Given the description of an element on the screen output the (x, y) to click on. 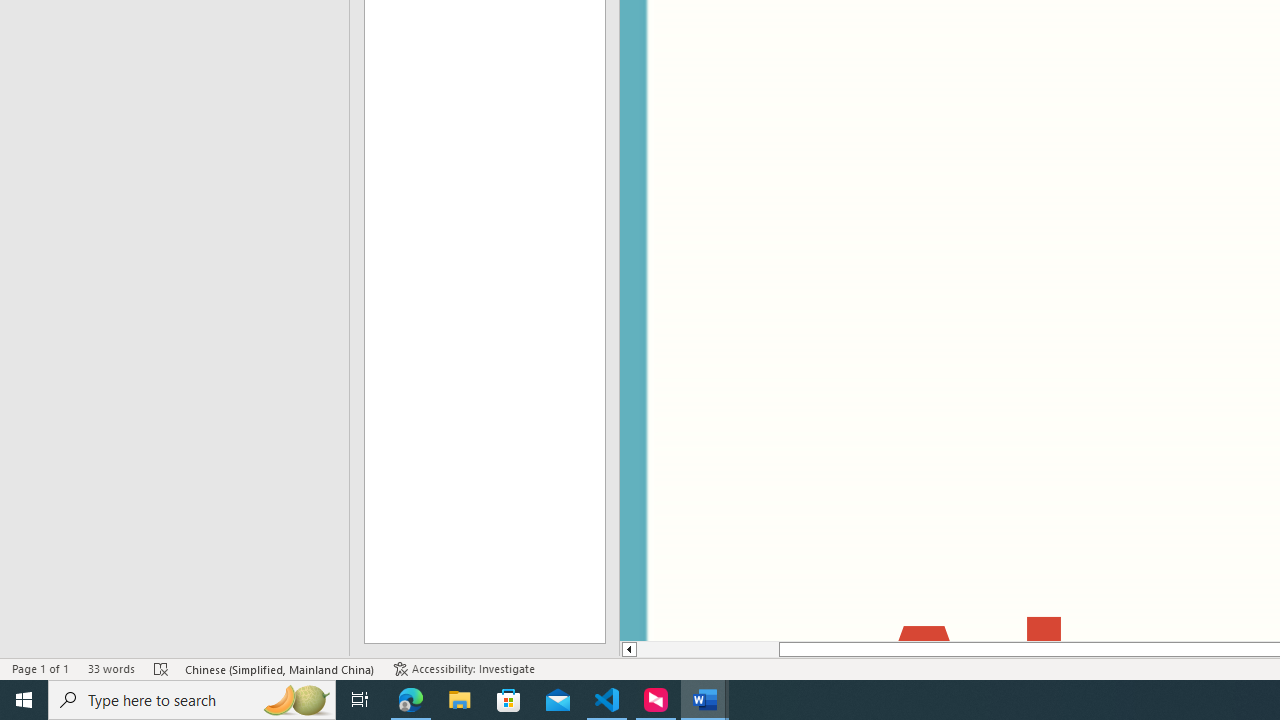
Page Number Page 1 of 1 (39, 668)
Language Chinese (Simplified, Mainland China) (279, 668)
Page left (708, 649)
Spelling and Grammar Check Errors (161, 668)
Column left (628, 649)
